Given the description of an element on the screen output the (x, y) to click on. 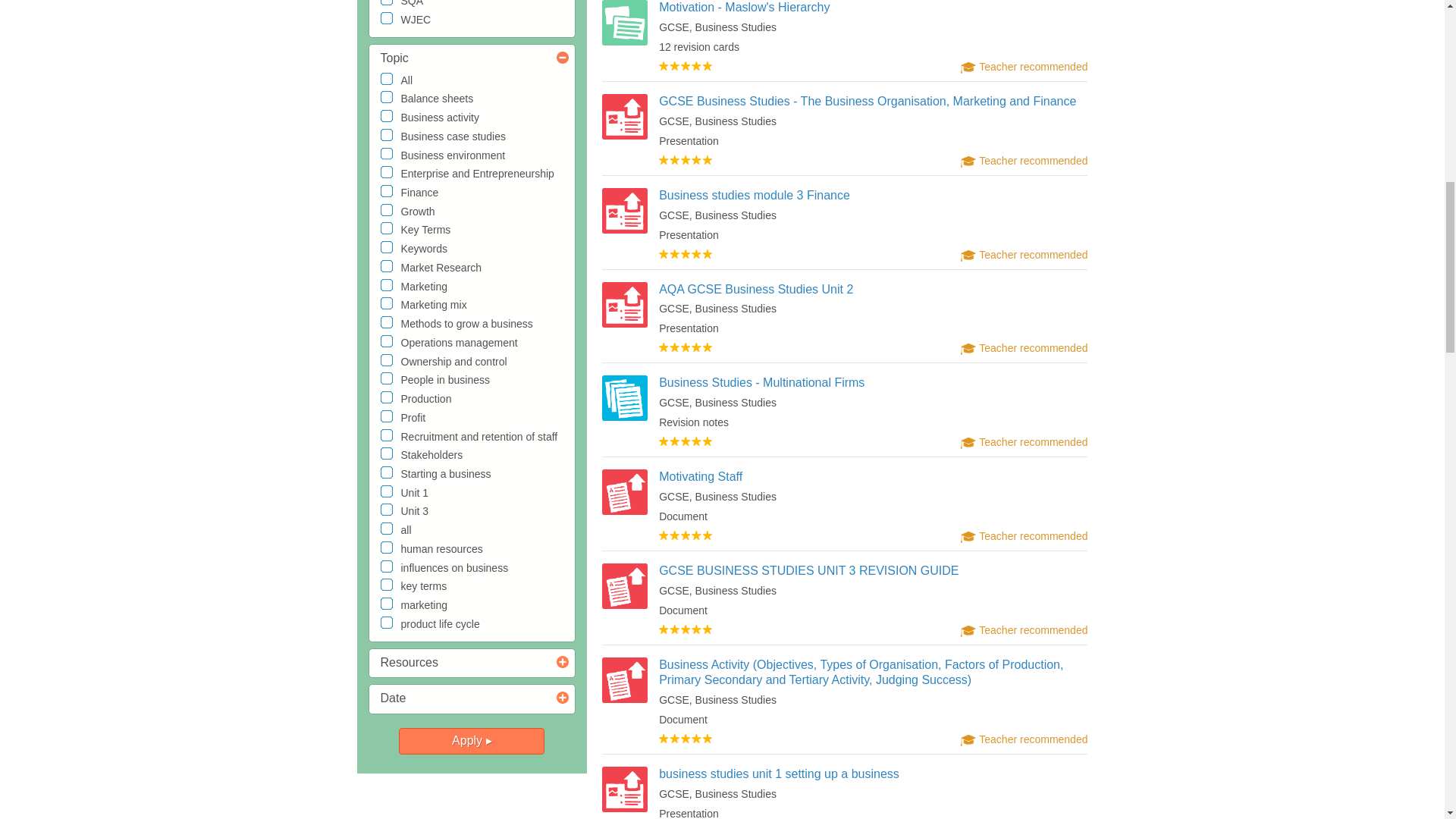
business studies unit 1 setting up a business (779, 773)
Motivating Staff (700, 476)
Motivation - Maslow's Hierarchy (744, 6)
Business studies module 3 Finance (754, 195)
AQA GCSE Business Studies Unit 2 (756, 288)
Apply (471, 741)
Business Studies - Multinational Firms (761, 382)
GCSE BUSINESS STUDIES UNIT 3 REVISION GUIDE (808, 570)
